Given the description of an element on the screen output the (x, y) to click on. 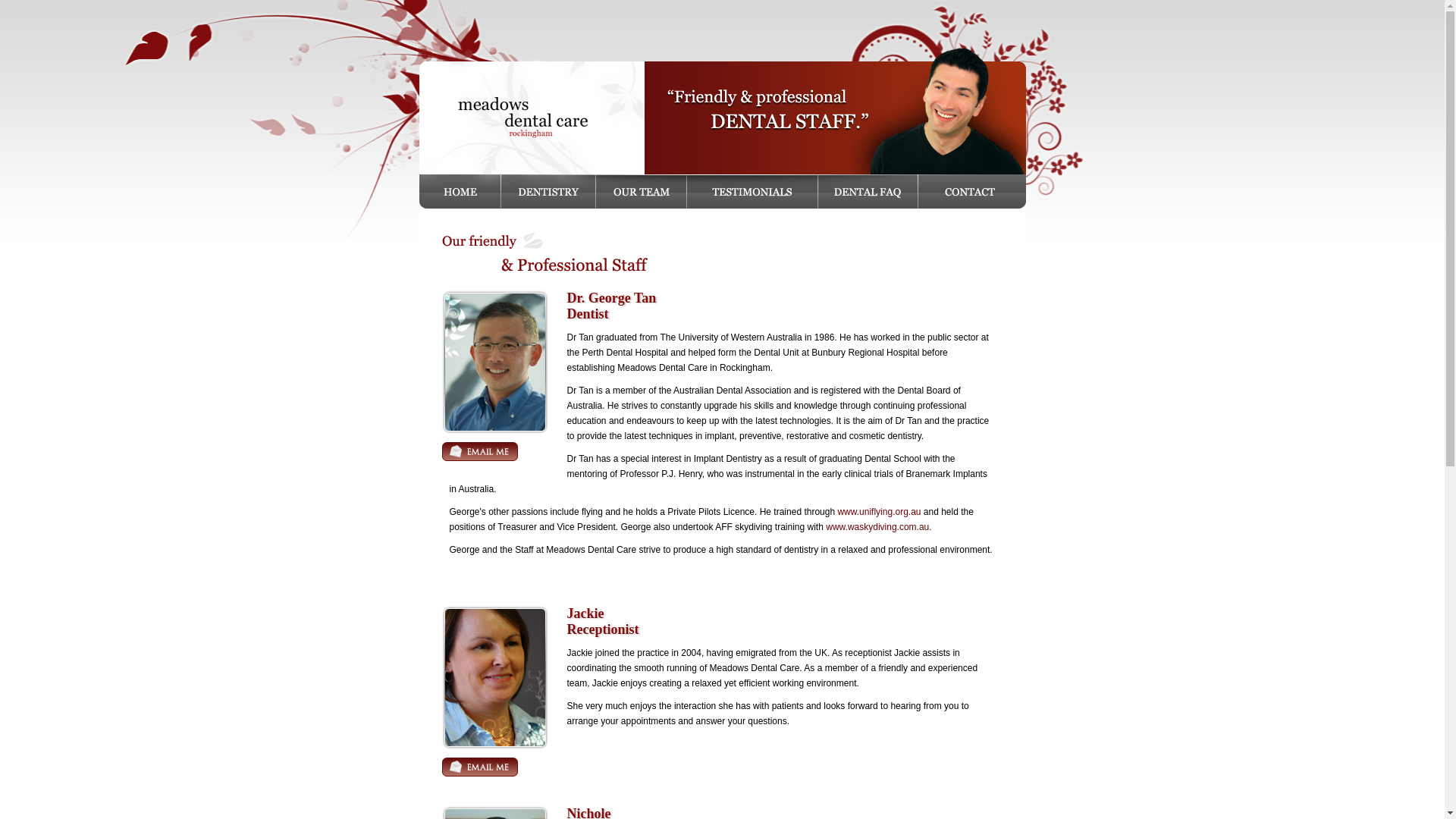
www.uniflying.org.au Element type: text (878, 511)
www.waskydiving.com.au. Element type: text (878, 526)
